Given the description of an element on the screen output the (x, y) to click on. 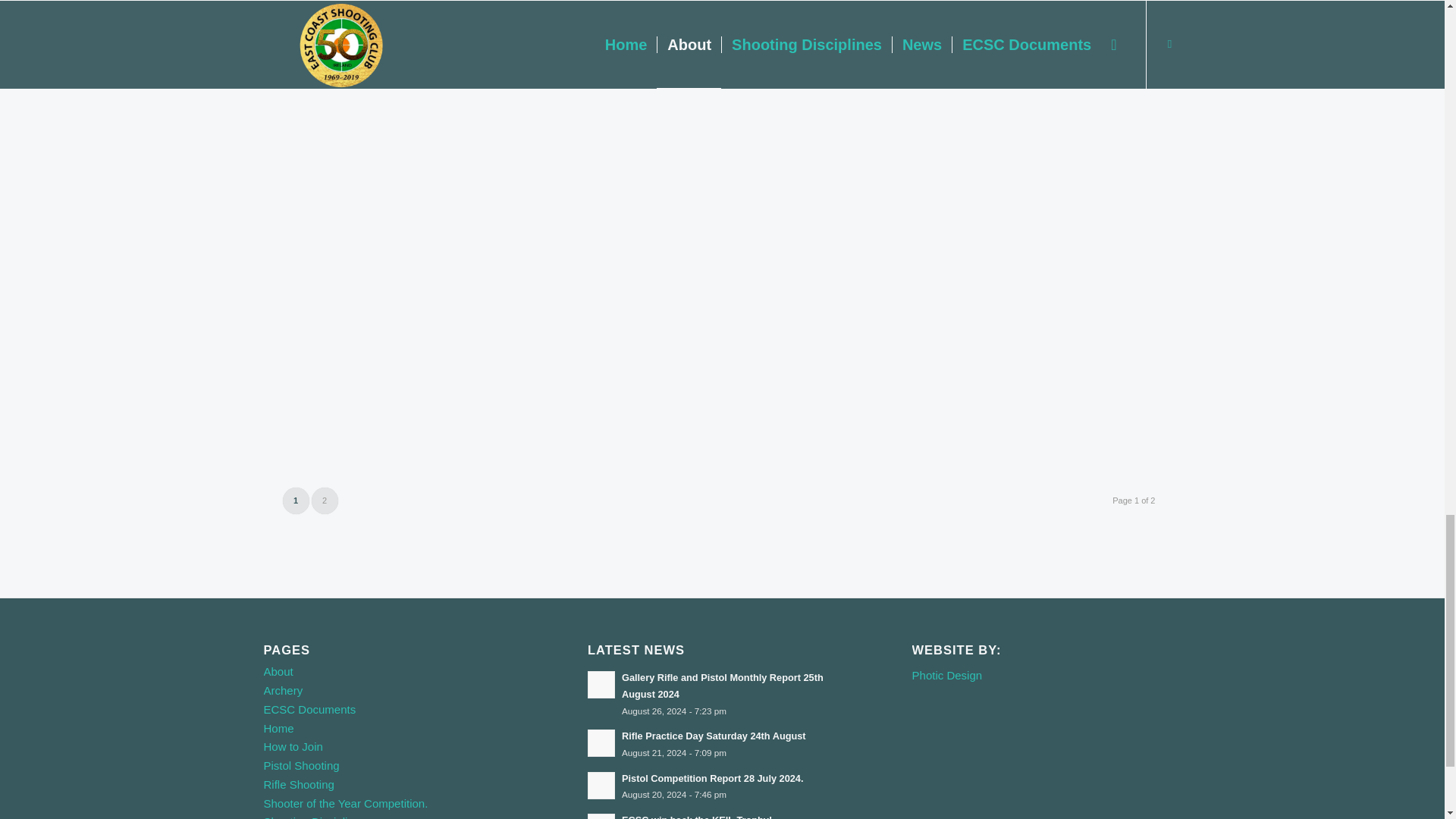
ECSC Documents (309, 708)
Home (278, 727)
2 (324, 500)
About (278, 671)
Archery (282, 689)
